Given the description of an element on the screen output the (x, y) to click on. 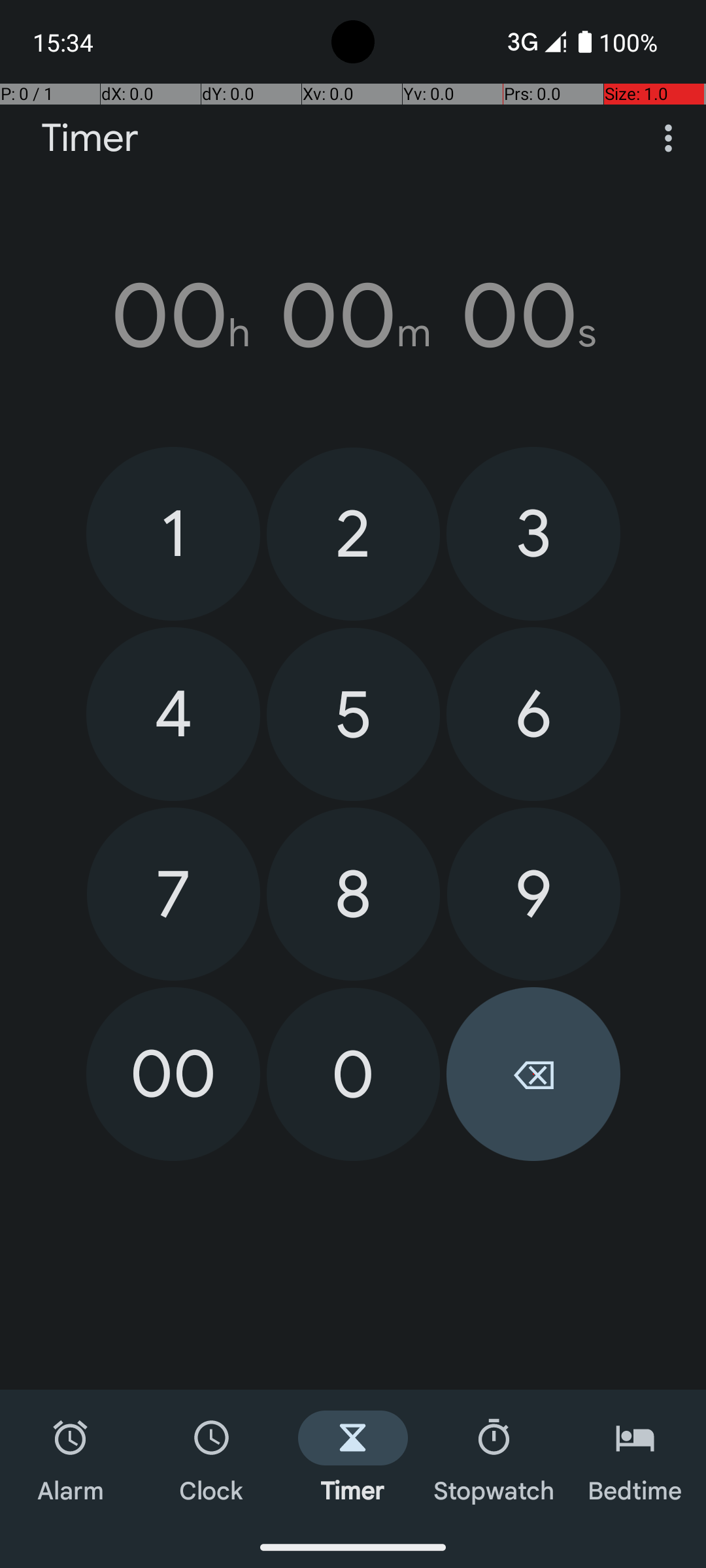
00h 00m 00s Element type: android.widget.TextView (353, 315)
